Given the description of an element on the screen output the (x, y) to click on. 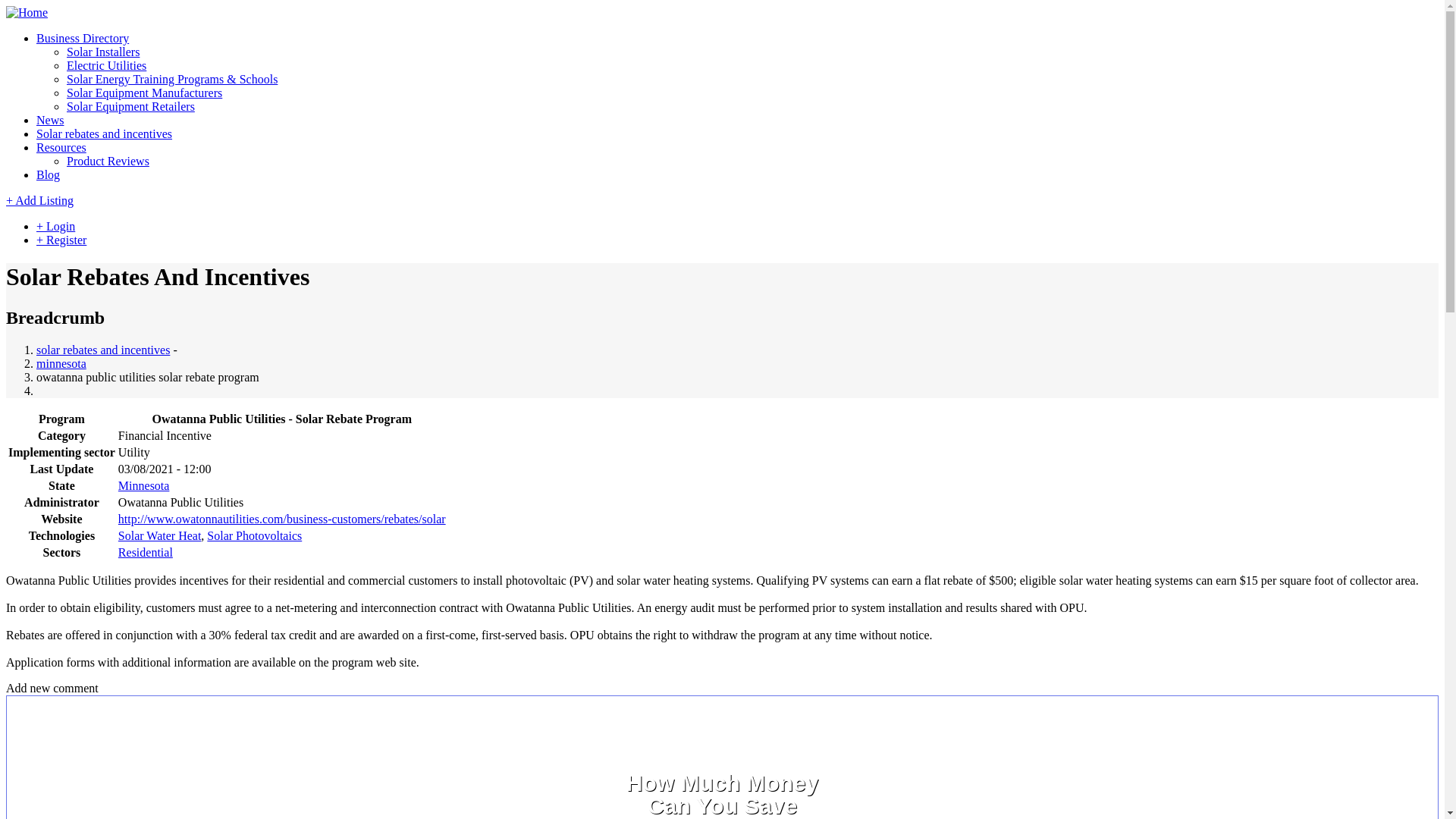
Solar Equipment Manufacturers (144, 92)
Solar Installers (102, 51)
Product Reviews (107, 160)
Companies that sell solar energy related equipment (130, 106)
Blog (47, 174)
Solar Water Heat (158, 535)
Home (26, 11)
Solar Energy News (50, 119)
News (50, 119)
